Given the description of an element on the screen output the (x, y) to click on. 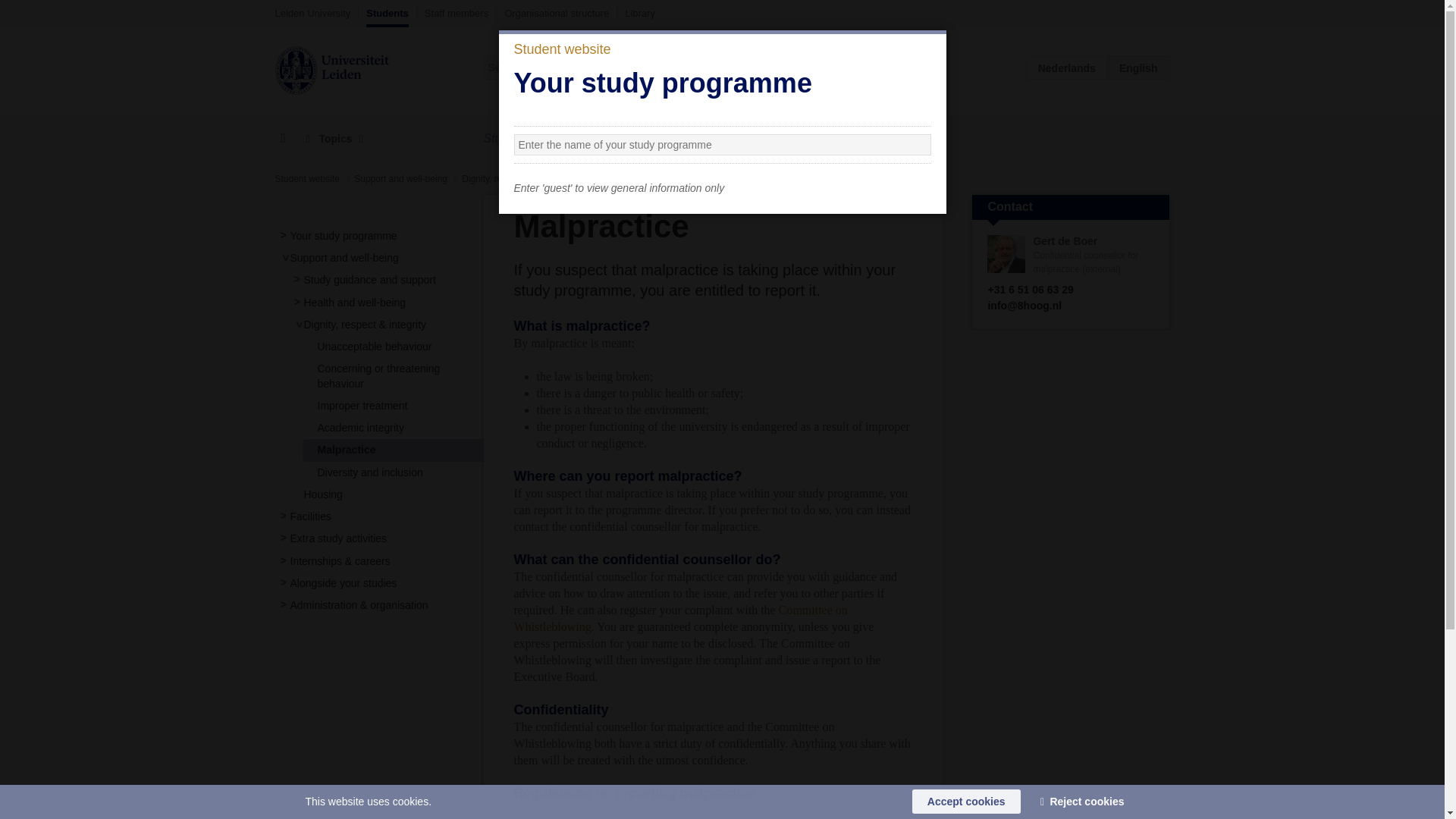
Organisational structure (555, 13)
Your study programme (342, 235)
Leiden University (312, 13)
Library (639, 13)
NL (1067, 67)
Topics (333, 139)
All (827, 67)
Search (919, 67)
Staff members (456, 13)
Students (387, 17)
